Given the description of an element on the screen output the (x, y) to click on. 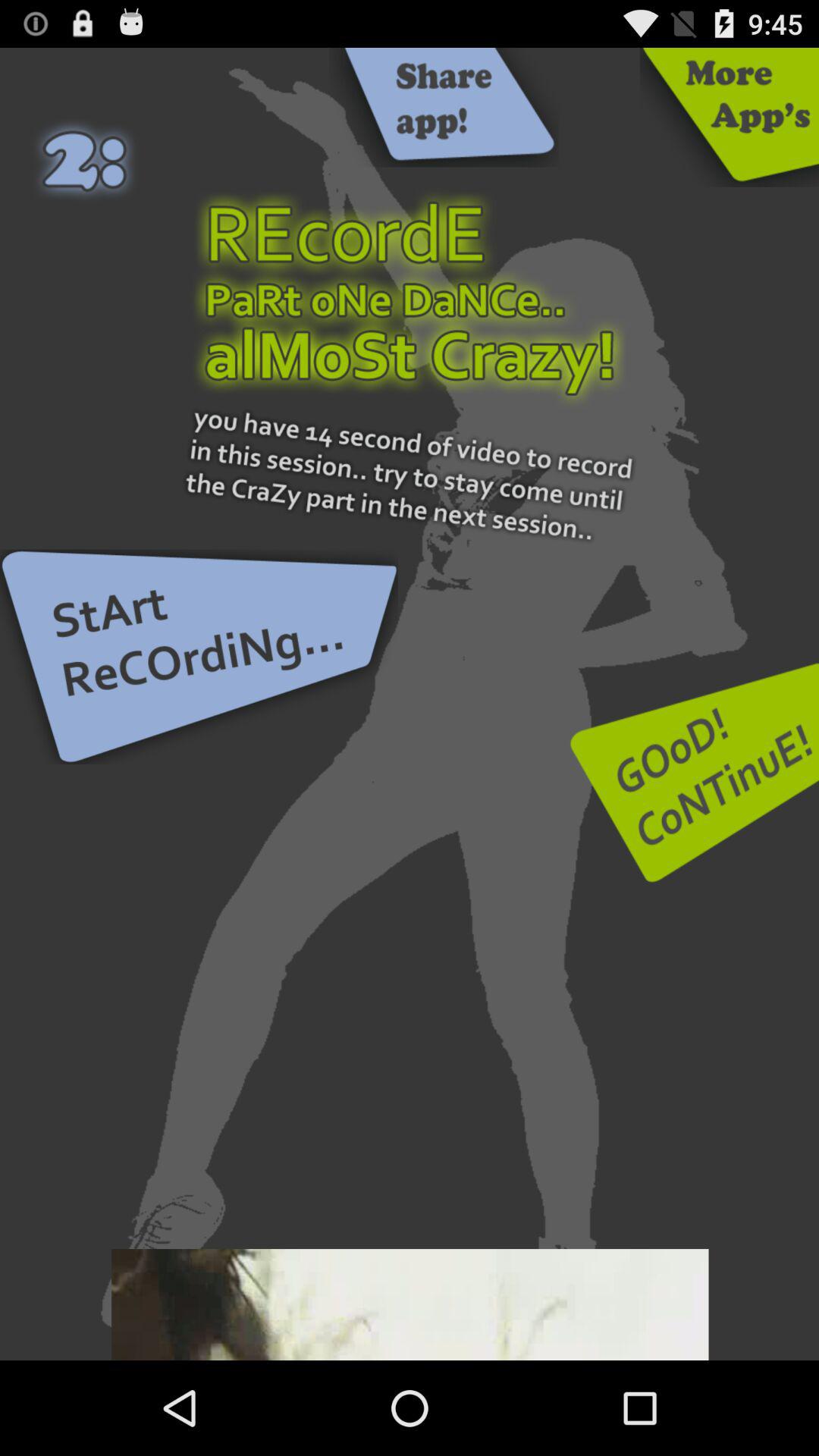
more other apps (729, 117)
